Given the description of an element on the screen output the (x, y) to click on. 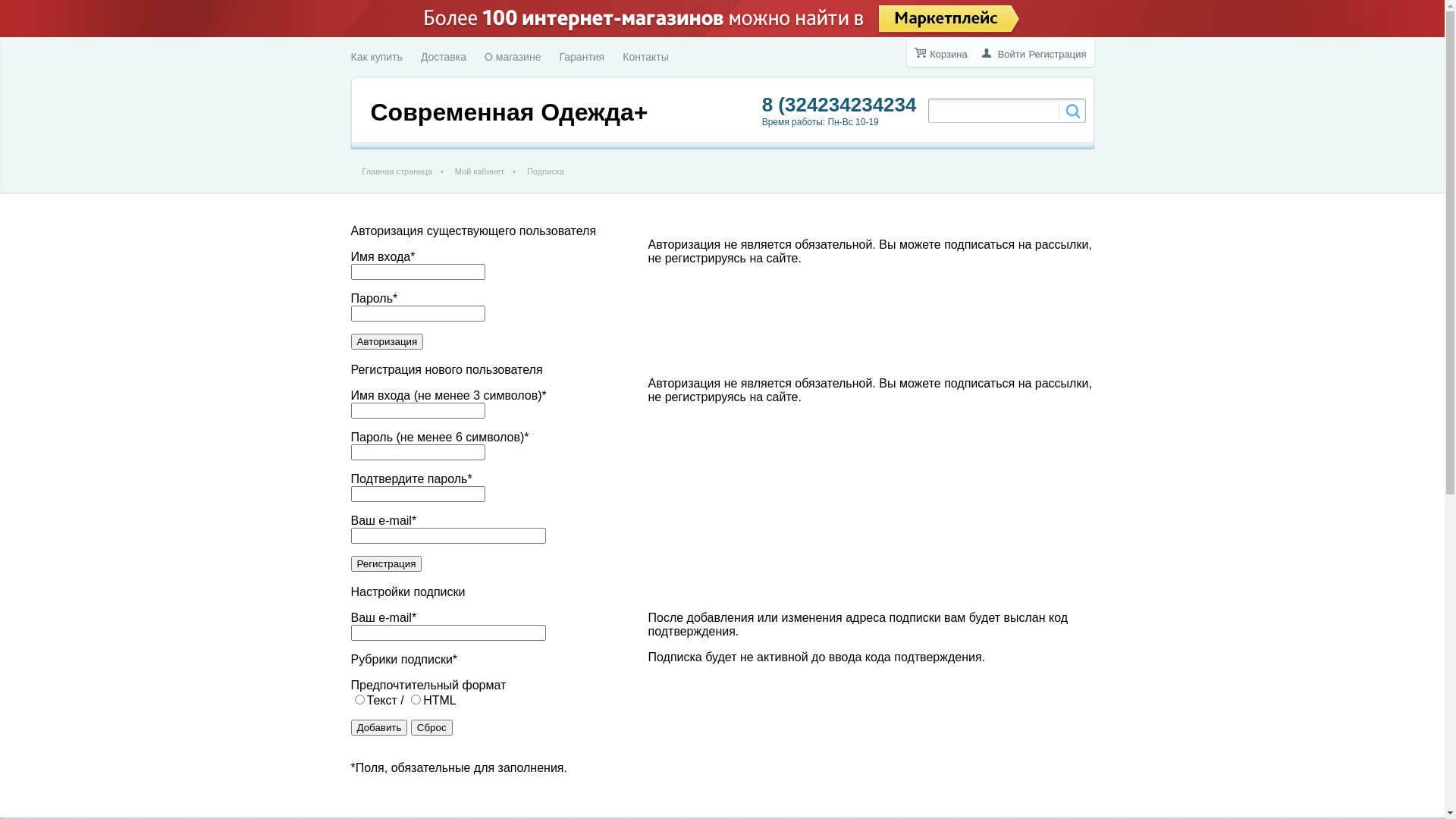
8 (324234234234 Element type: text (839, 104)
